Given the description of an element on the screen output the (x, y) to click on. 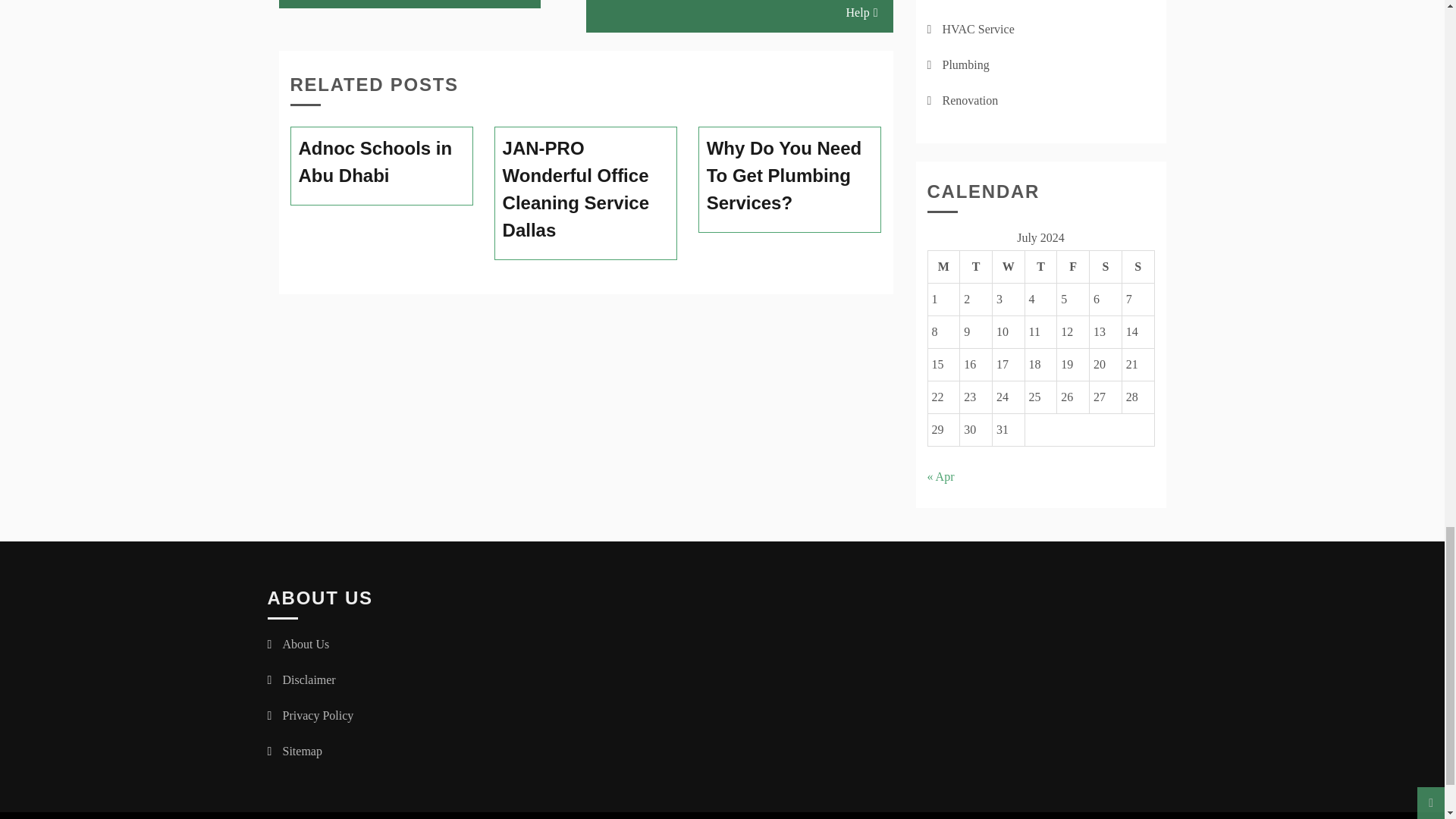
Tuesday (975, 266)
Friday (1073, 266)
Wednesday (1008, 266)
Saturday (1105, 266)
JAN-PRO Wonderful Office Cleaning Service Dallas (585, 189)
Why Do You Need To Get Plumbing Services? (789, 176)
Sunday (1137, 266)
Monday (943, 266)
Dealing with Flooding from Natural Disasters (409, 4)
Adnoc Schools in Abu Dhabi (381, 162)
Thursday (1041, 266)
